Given the description of an element on the screen output the (x, y) to click on. 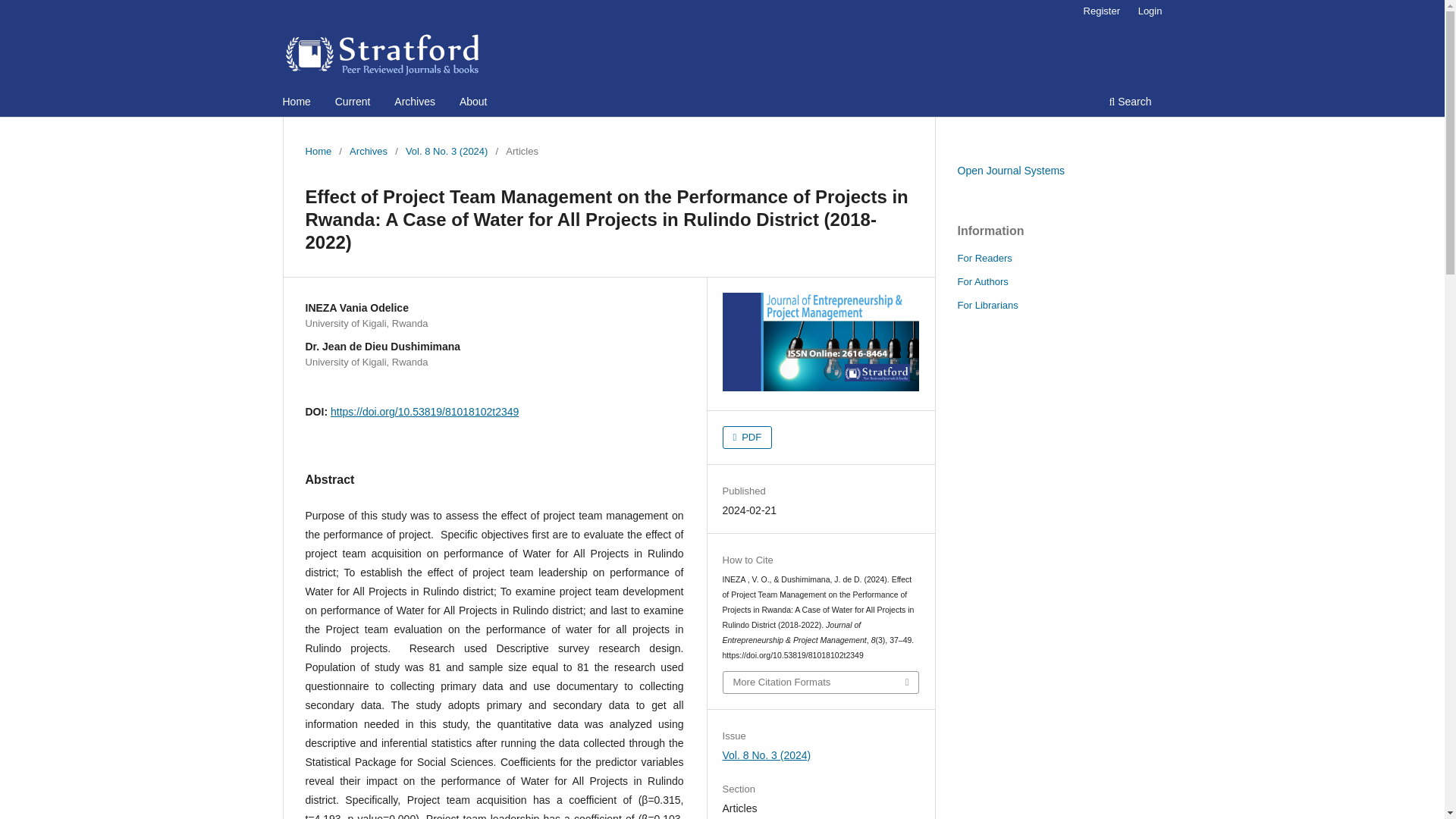
Register (1100, 11)
Archives (368, 151)
PDF (747, 436)
Current (352, 103)
About (473, 103)
More Citation Formats (820, 681)
Archives (414, 103)
Home (296, 103)
Search (1129, 103)
Login (1150, 11)
